Given the description of an element on the screen output the (x, y) to click on. 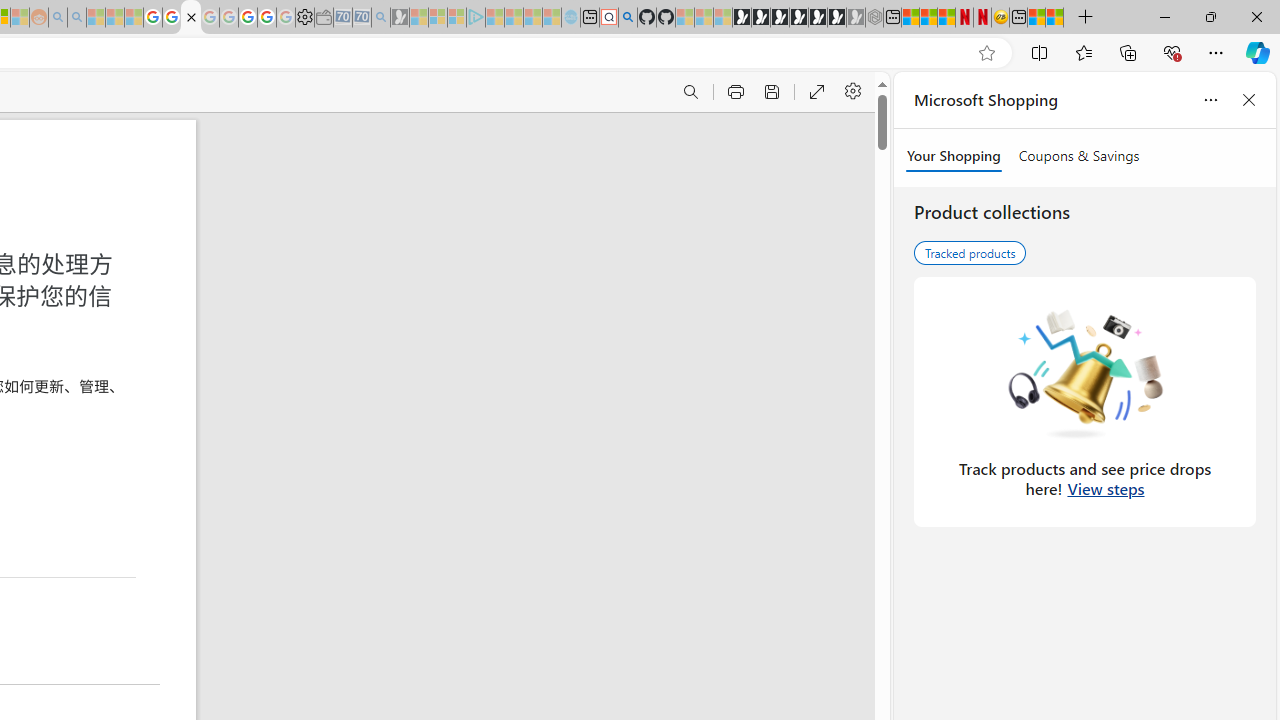
Wildlife - MSN (1035, 17)
